Given the description of an element on the screen output the (x, y) to click on. 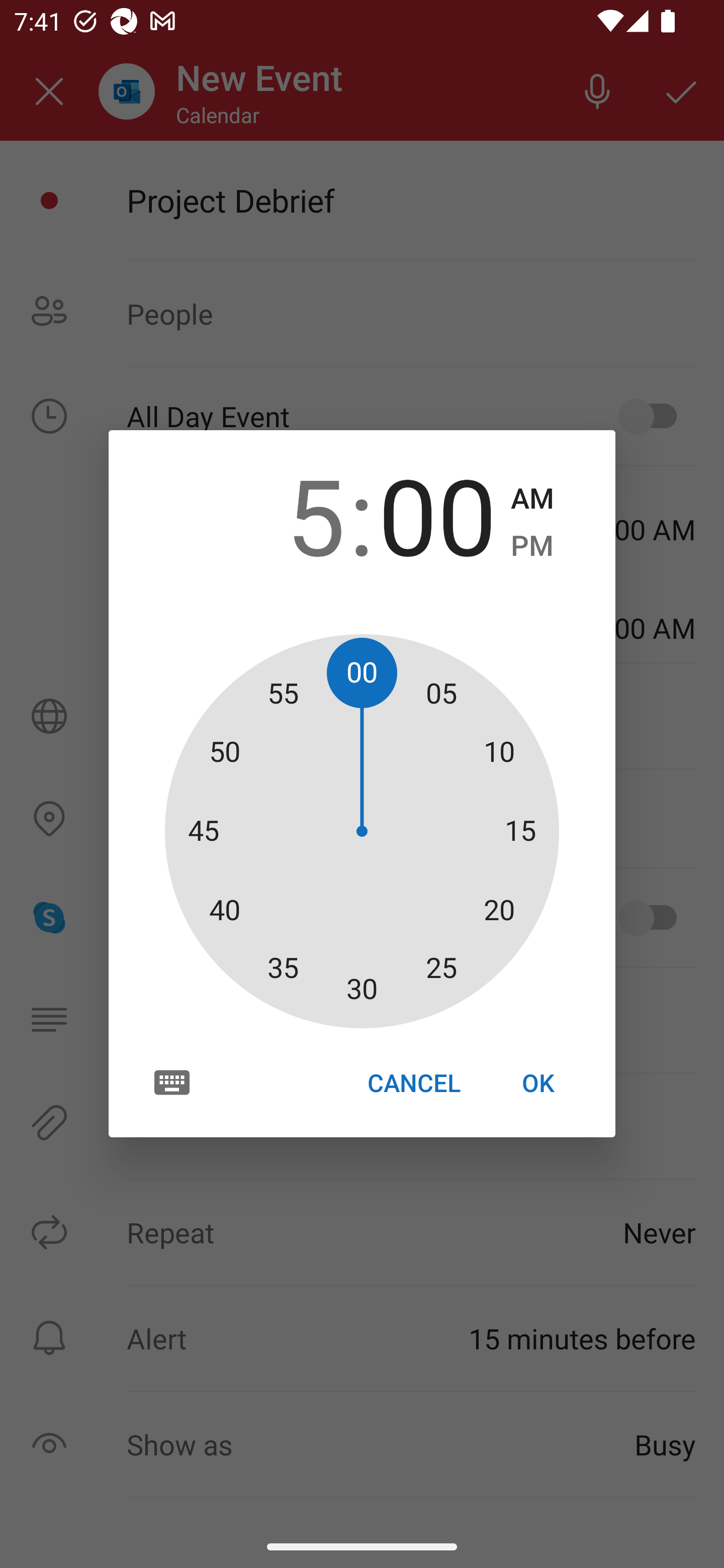
5 (285, 513)
00 (436, 513)
AM (532, 498)
PM (532, 546)
CANCEL (413, 1082)
OK (537, 1082)
Switch to text input mode for the time input. (171, 1081)
